Given the description of an element on the screen output the (x, y) to click on. 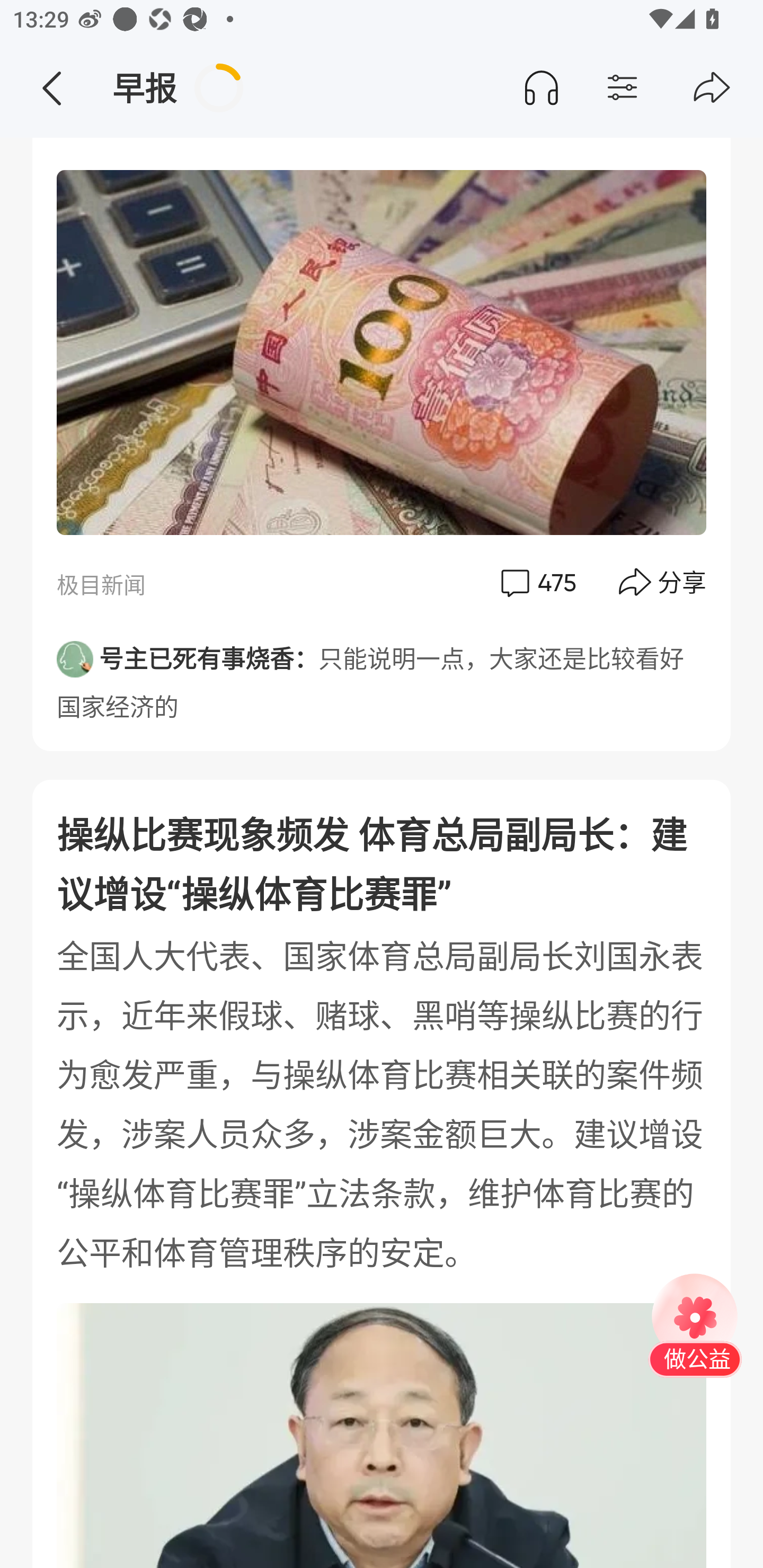
 (50, 87)
 (656, 87)
 (711, 87)
评论  475 (536, 582)
 分享 (663, 582)
  号主已死有事烧香：只能说明一点，大家还是比较看好国家经济的 (381, 676)
